Given the description of an element on the screen output the (x, y) to click on. 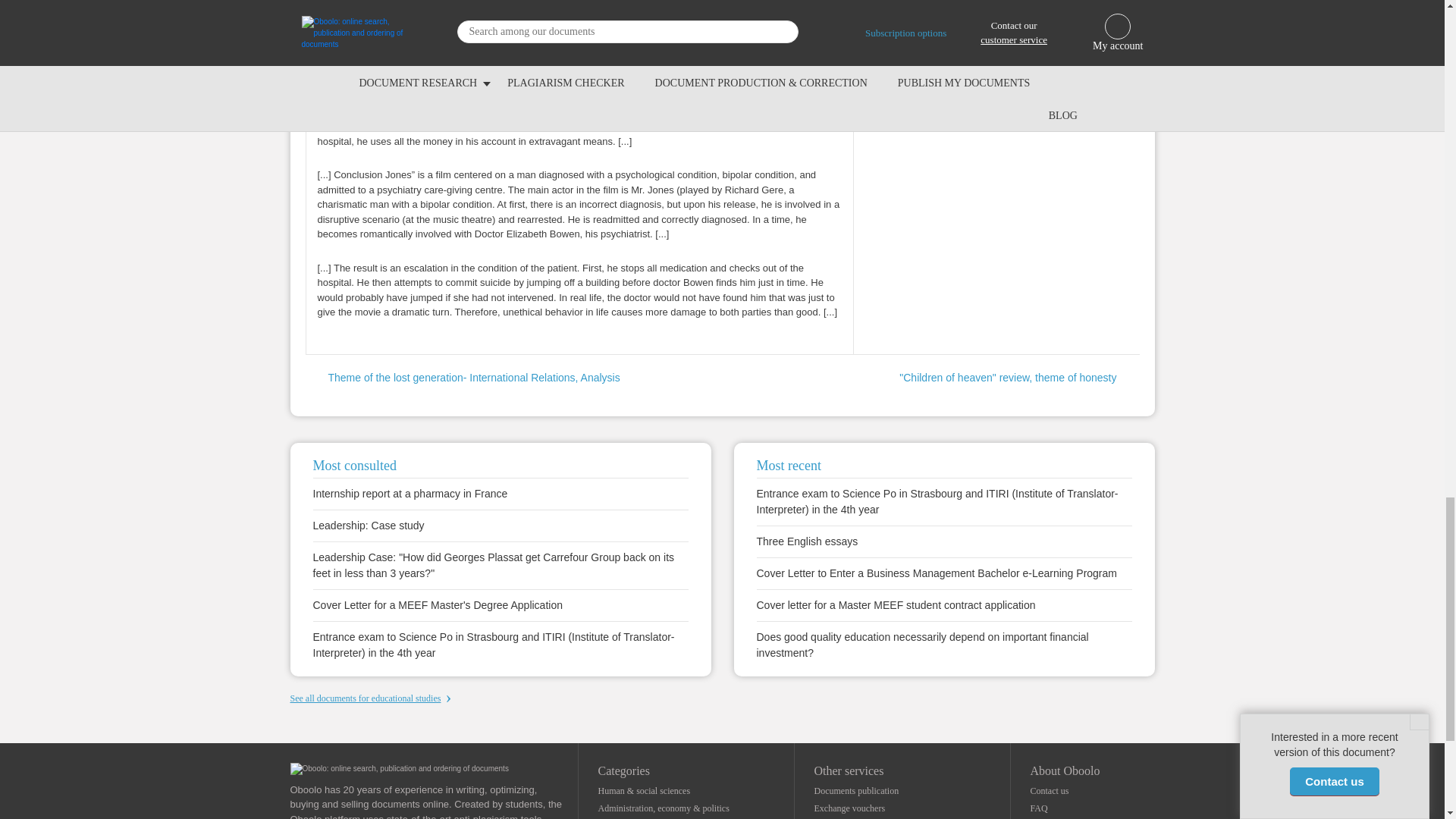
Cover Letter for a MEEF Master's Degree Application (437, 604)
"Children of heaven" review, theme of honesty (1018, 377)
Cover letter for a Master MEEF student contract application (896, 604)
Three English essays (808, 541)
Leadership: Case study (368, 525)
Internship report at a pharmacy in France (409, 493)
